Given the description of an element on the screen output the (x, y) to click on. 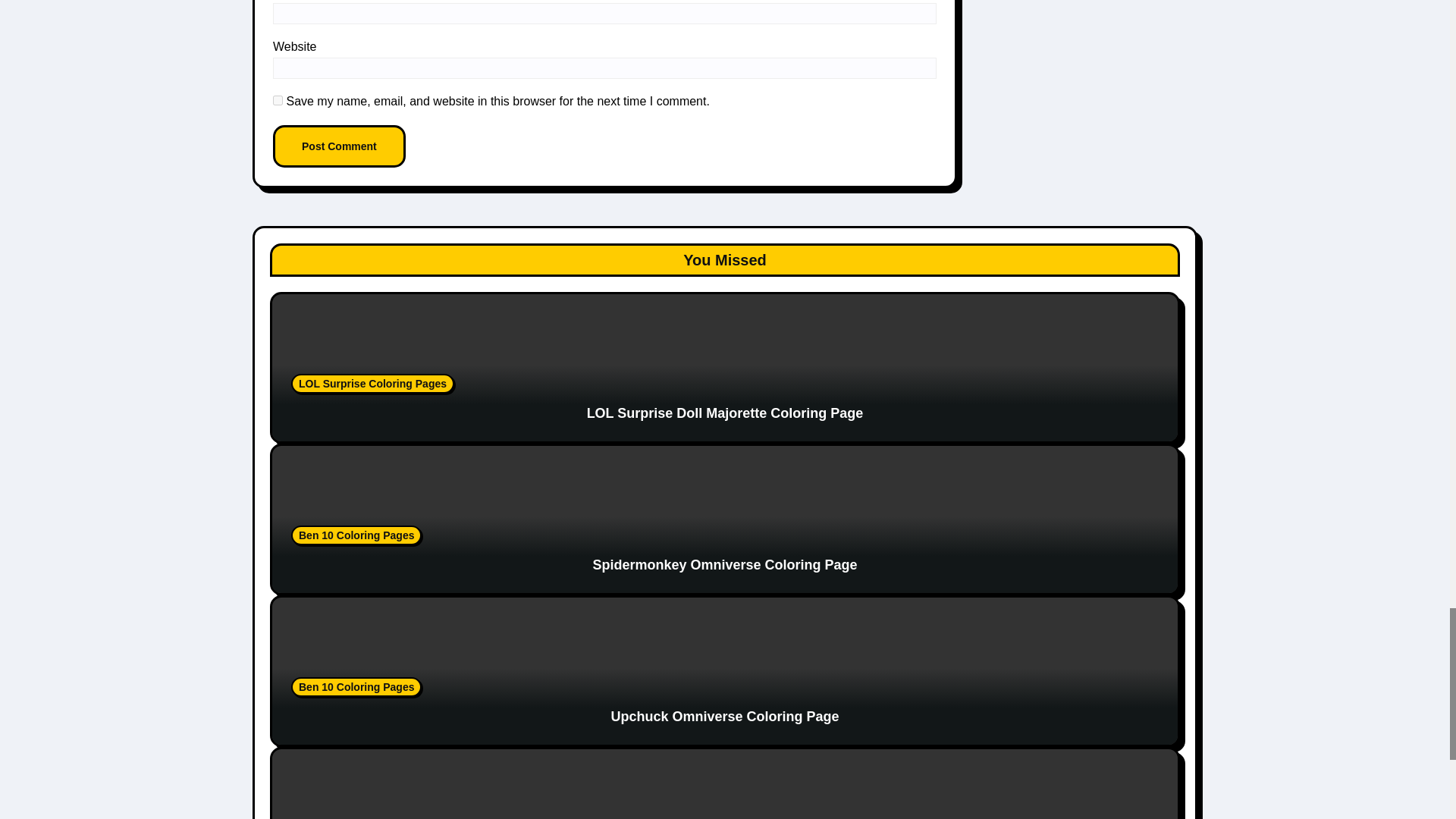
yes (277, 100)
Post Comment (339, 146)
